Given the description of an element on the screen output the (x, y) to click on. 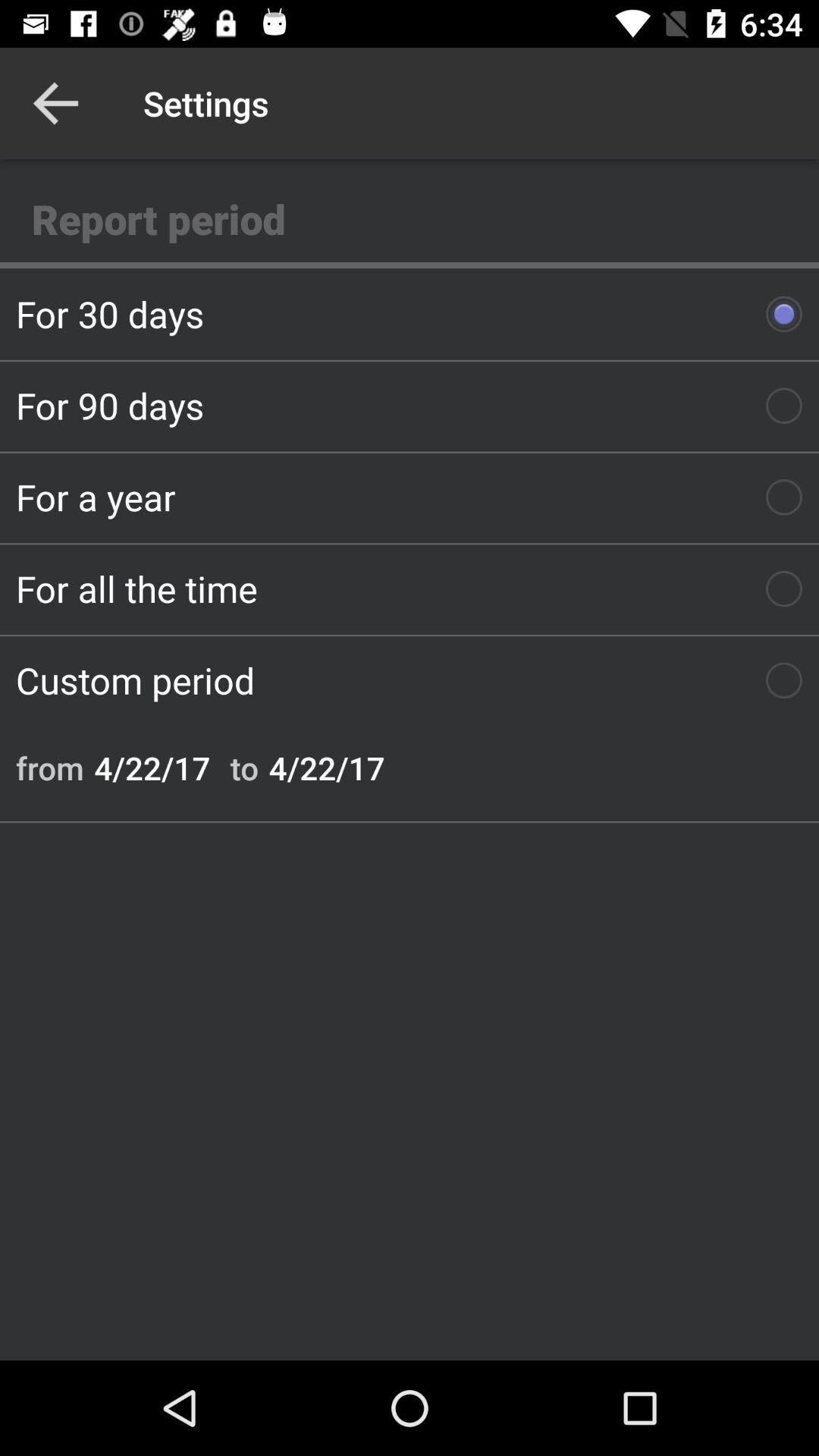
press app to the left of the settings app (55, 103)
